Given the description of an element on the screen output the (x, y) to click on. 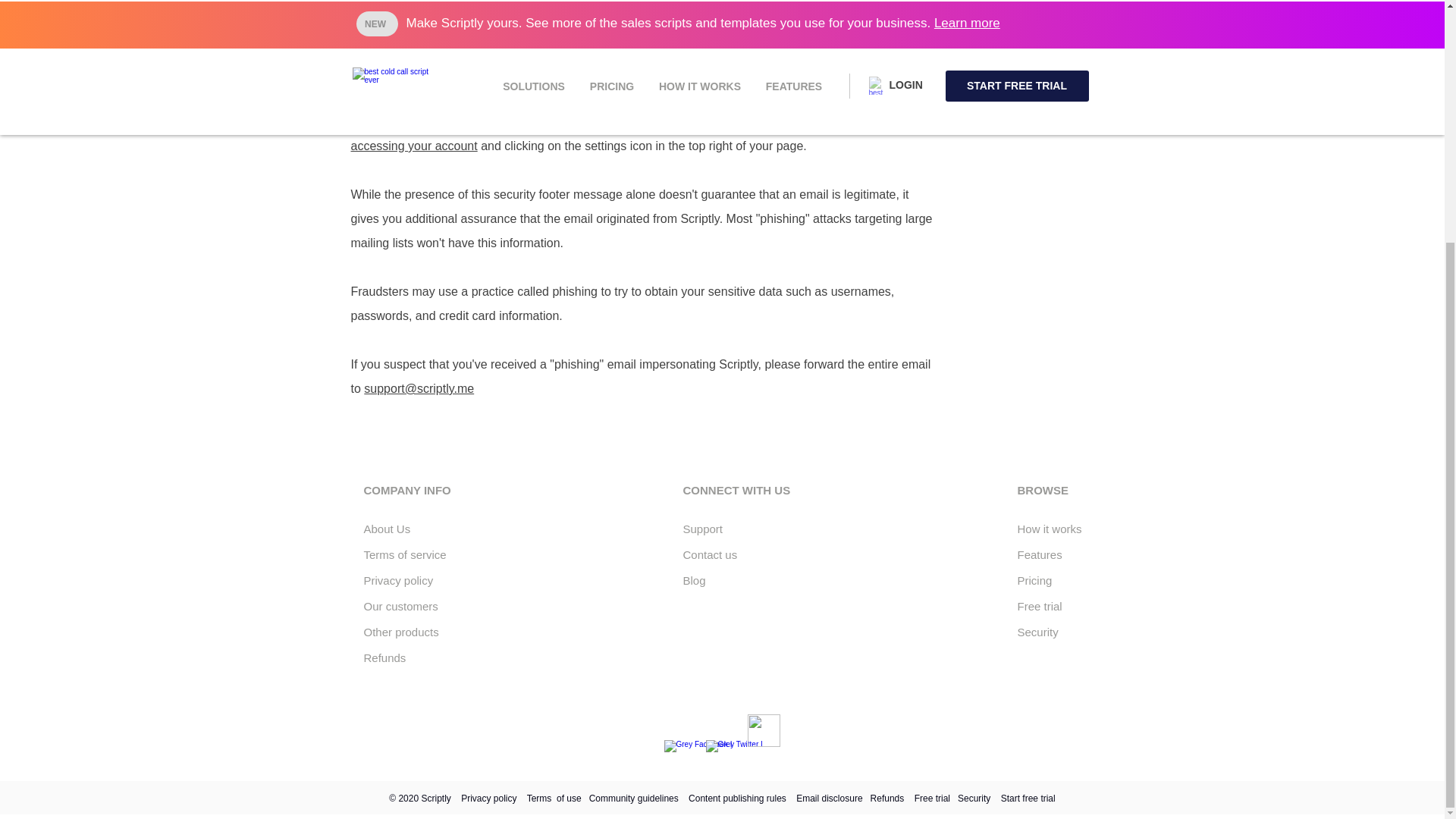
Support (702, 528)
Our customers (401, 605)
How it works (1049, 528)
Content publishing rules (737, 798)
About Us (387, 528)
Security (974, 798)
Start free trial (1028, 798)
Free trial (1039, 605)
Contact us  (710, 554)
Refunds (385, 657)
Privacy policy (398, 580)
Community guidelines (633, 798)
Email disclosure (828, 798)
Terms of service (405, 554)
accessing your account (413, 145)
